Given the description of an element on the screen output the (x, y) to click on. 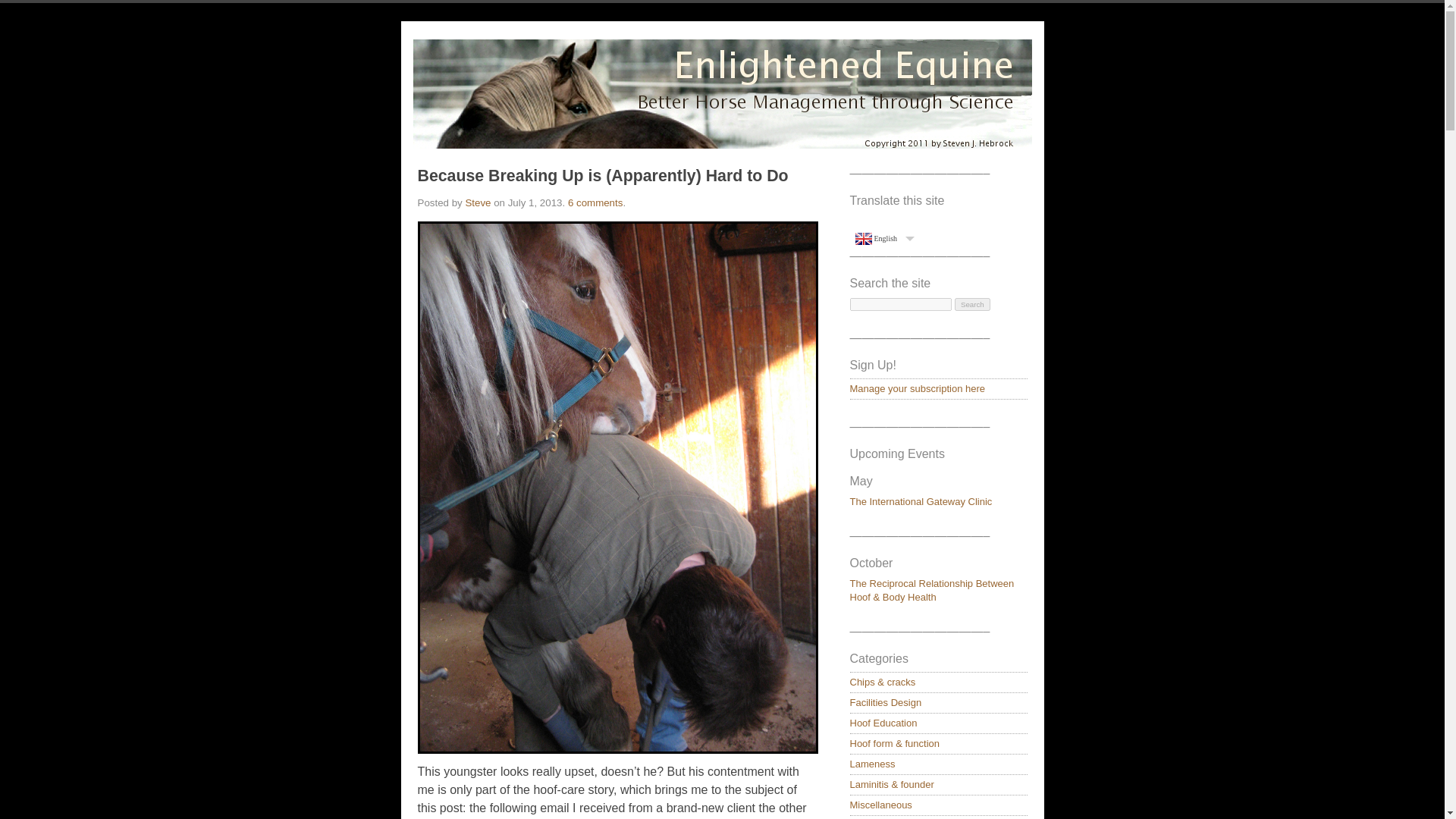
6 comments (595, 202)
English (883, 238)
Search (972, 304)
Go to home page (721, 93)
Posts by Steve (477, 202)
Steve (477, 202)
